Given the description of an element on the screen output the (x, y) to click on. 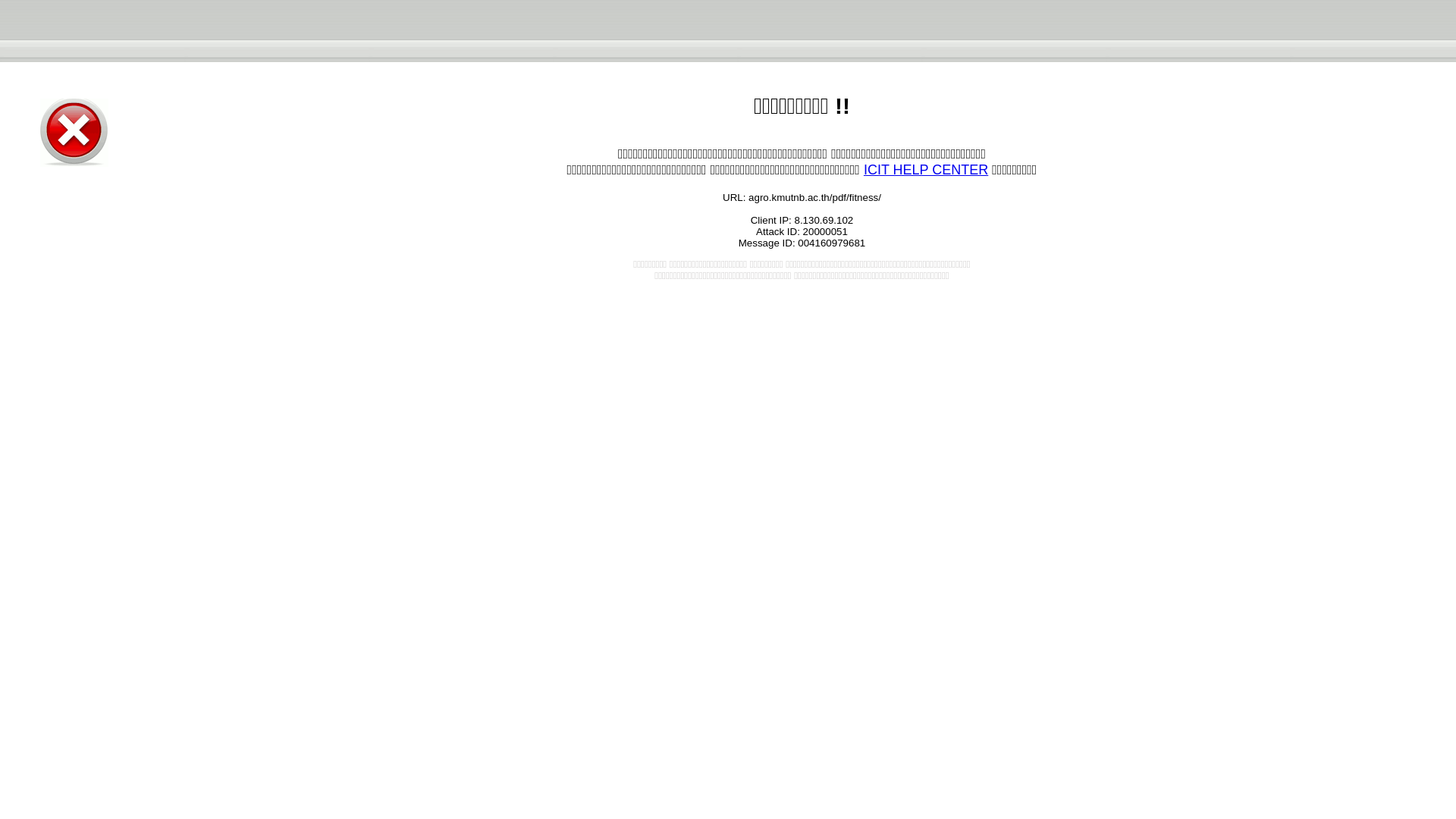
ICIT HELP CENTER (925, 169)
